Given the description of an element on the screen output the (x, y) to click on. 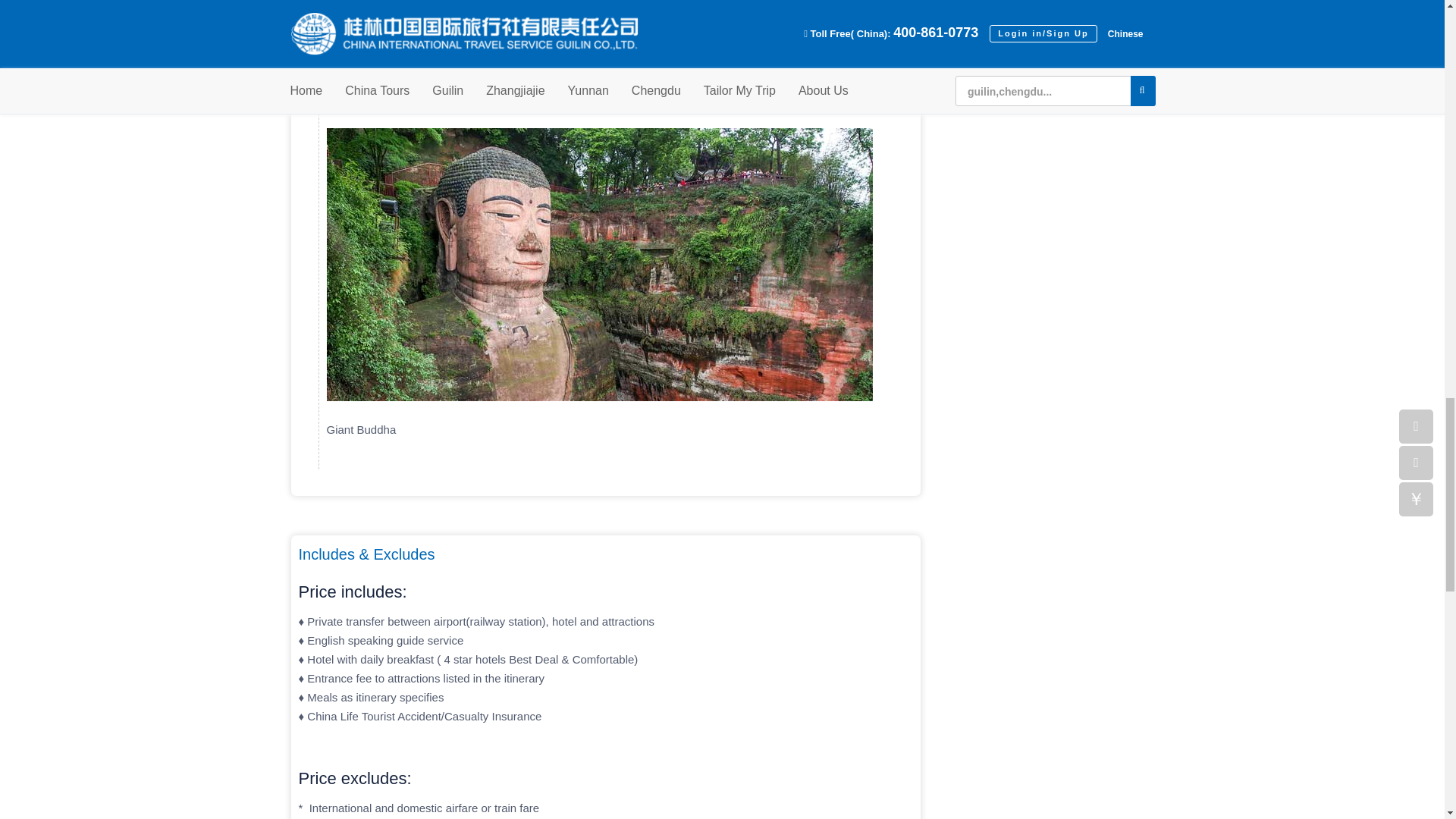
Mt. Leshan (581, 88)
Hotpot (534, 57)
